Given the description of an element on the screen output the (x, y) to click on. 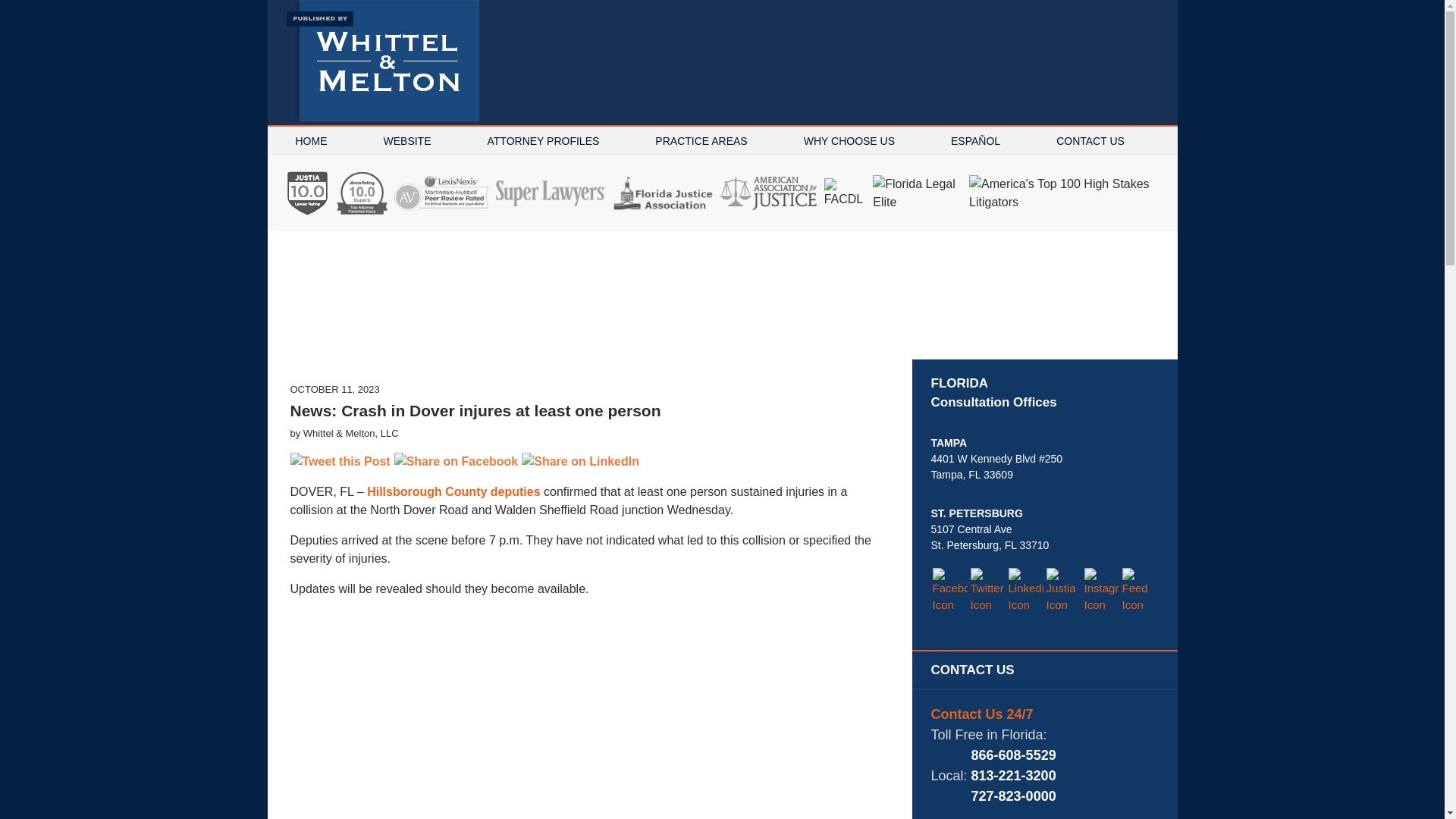
CONTACT US (1090, 140)
Tampa Bay Injury Attorney Blog (382, 60)
HOME (310, 140)
ATTORNEY PROFILES (543, 140)
PRACTICE AREAS (700, 140)
Hillsborough County deputies (453, 491)
CONTACT US (1044, 670)
WEBSITE (406, 140)
WHY CHOOSE US (849, 140)
